Given the description of an element on the screen output the (x, y) to click on. 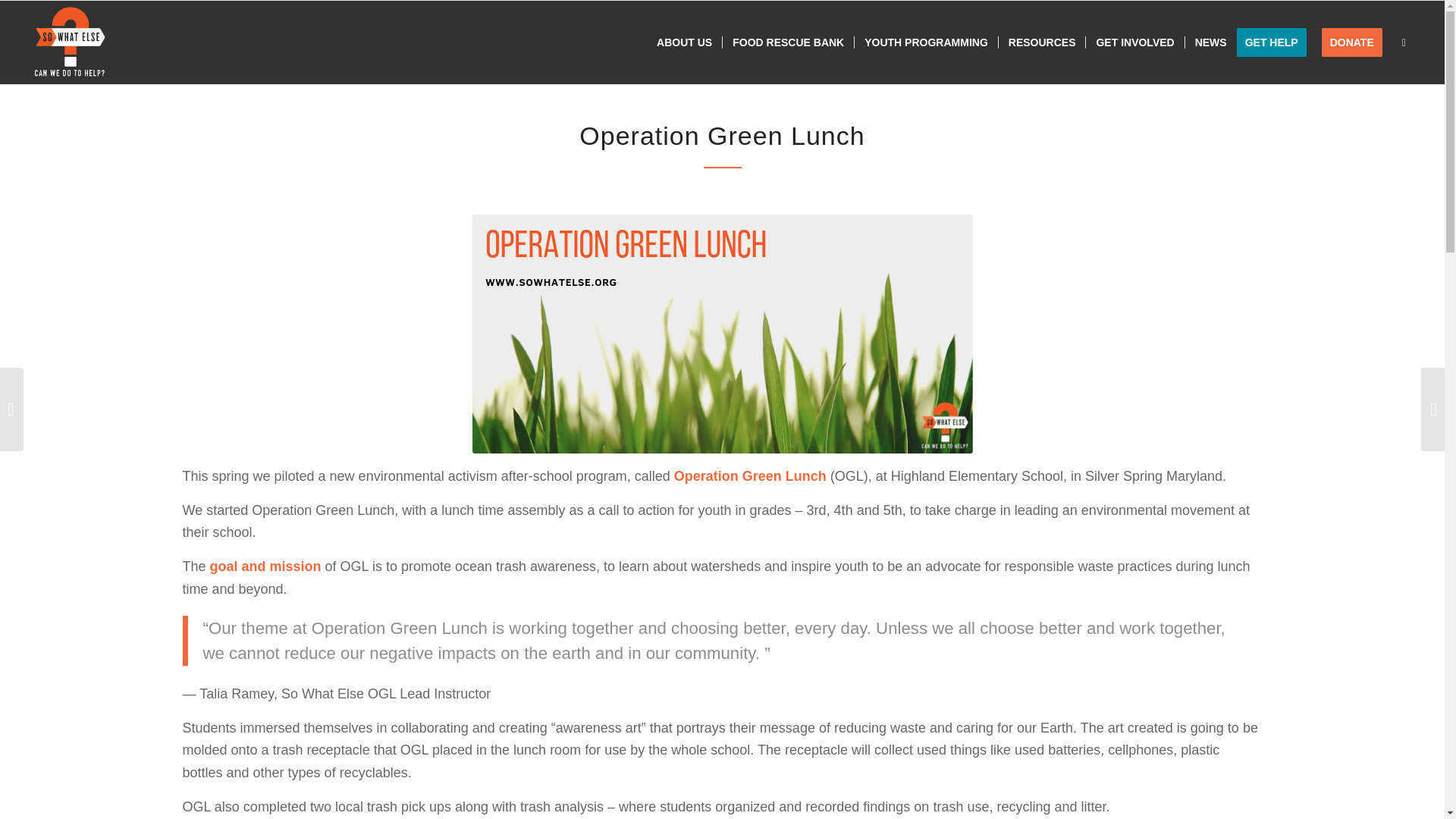
FOOD RESCUE BANK (787, 42)
ABOUT US (684, 42)
RESOURCES (1041, 42)
YOUTH PROGRAMMING (925, 42)
GET INVOLVED (1133, 42)
GET HELP (1276, 42)
